Given the description of an element on the screen output the (x, y) to click on. 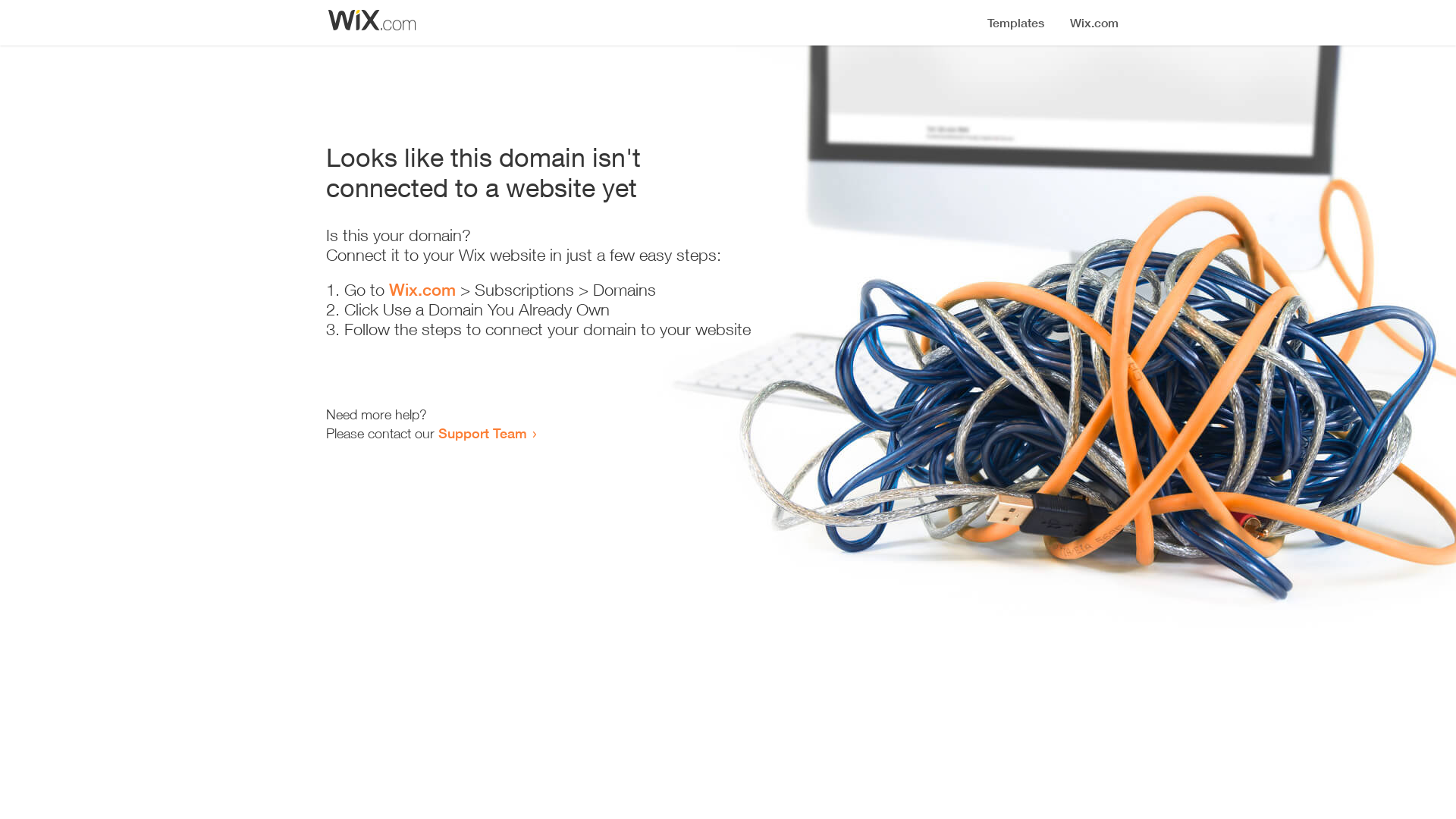
Wix.com Element type: text (422, 289)
Support Team Element type: text (482, 432)
